Given the description of an element on the screen output the (x, y) to click on. 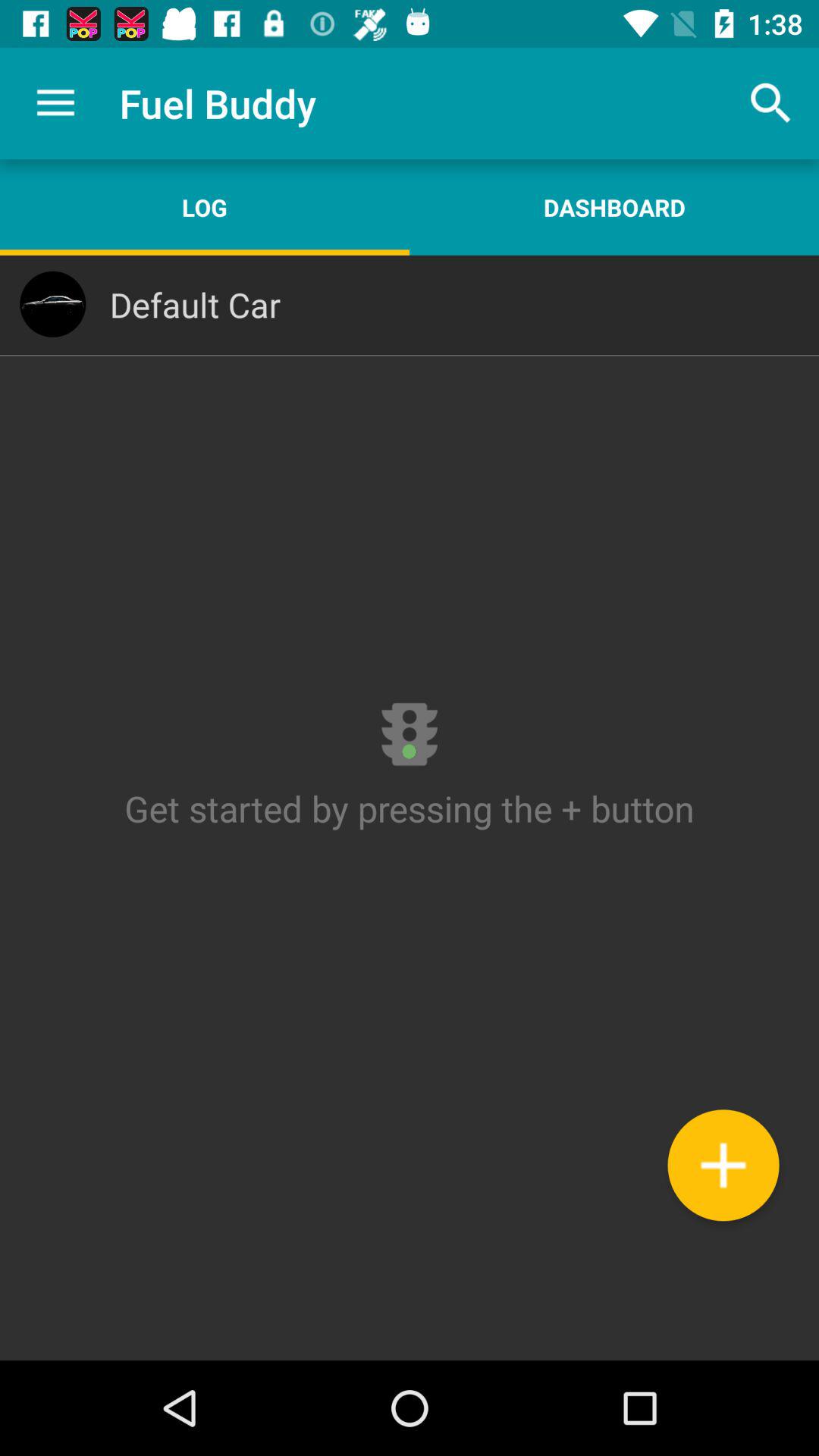
initiate fuel buddy (409, 808)
